Given the description of an element on the screen output the (x, y) to click on. 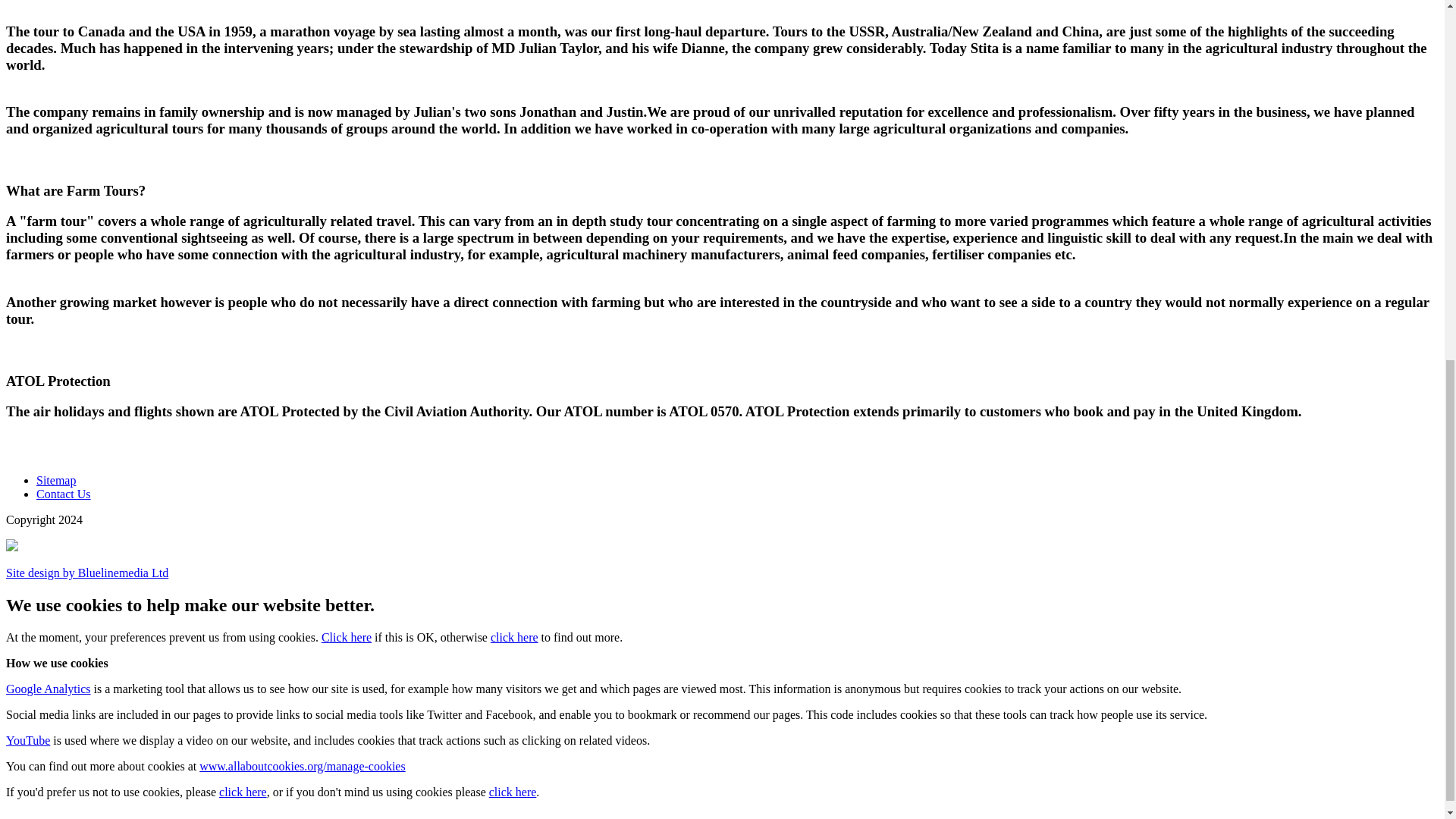
Contact Us (63, 493)
click here (242, 791)
Google Analytics (47, 688)
Sitemap (55, 480)
Contact Us (63, 493)
click here (514, 636)
Click here (346, 636)
YouTube (27, 739)
Web Design Bluelinemedia, Cheltenham (86, 572)
click here (513, 791)
